Given the description of an element on the screen output the (x, y) to click on. 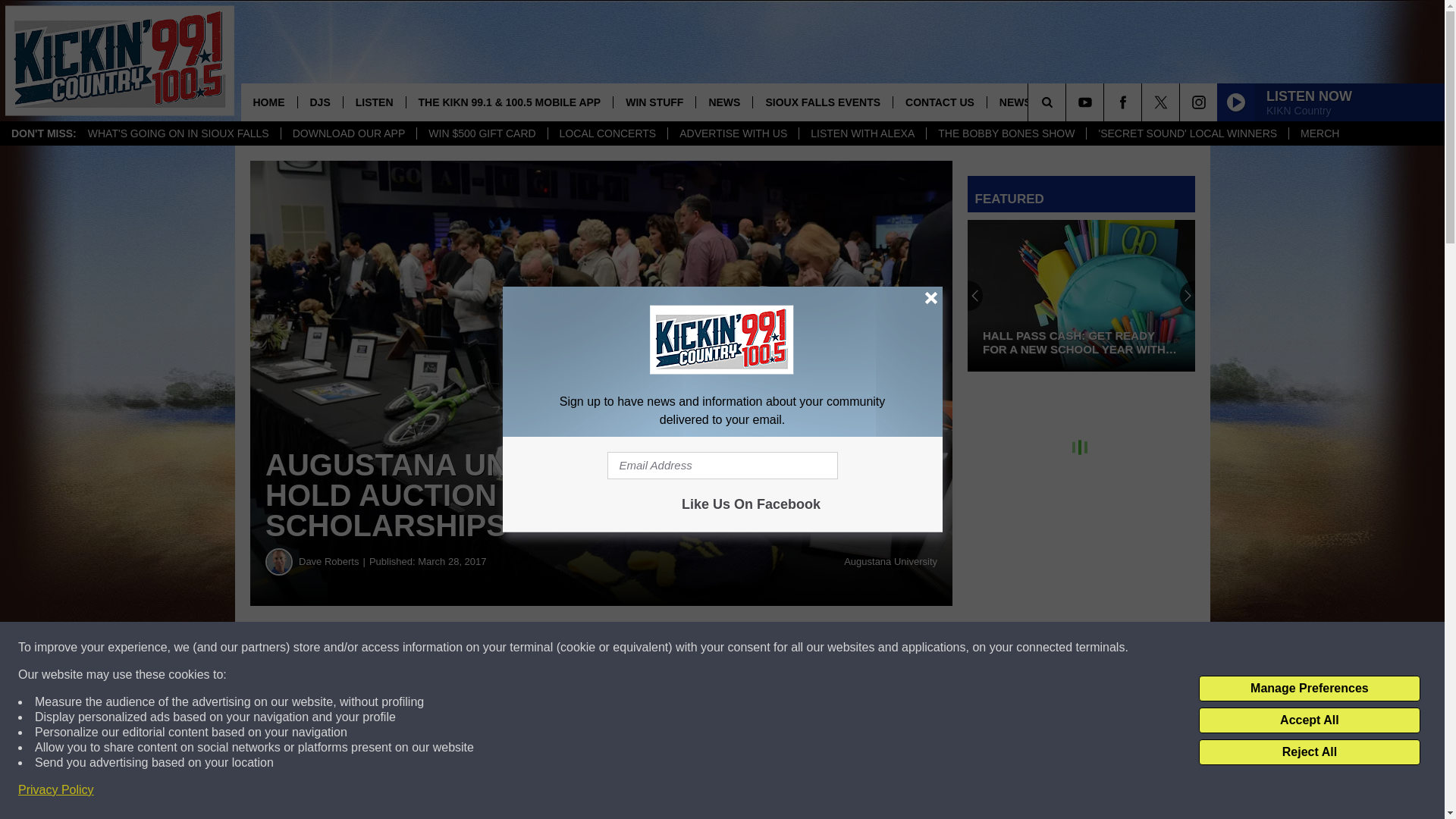
HOME (269, 102)
WIN STUFF (653, 102)
Share on Twitter (741, 647)
MERCH (1319, 133)
'SECRET SOUND' LOCAL WINNERS (1187, 133)
LOCAL CONCERTS (607, 133)
WHAT'S GOING ON IN SIOUX FALLS (179, 133)
Accept All (1309, 720)
DJS (319, 102)
DOWNLOAD OUR APP (348, 133)
THE BOBBY BONES SHOW (1006, 133)
LISTEN WITH ALEXA (861, 133)
Email Address (722, 465)
Reject All (1309, 751)
SEARCH (1068, 102)
